Given the description of an element on the screen output the (x, y) to click on. 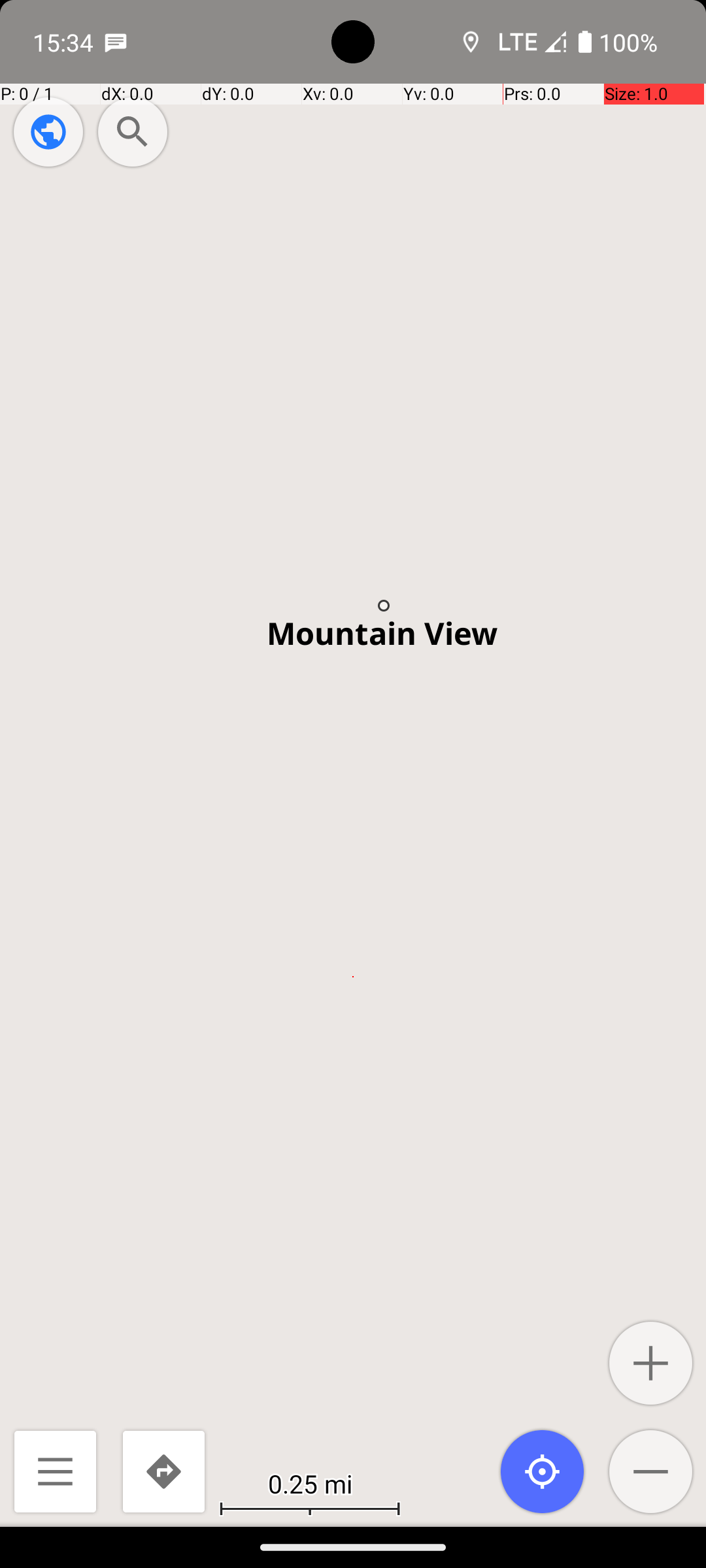
0.25 mi Element type: android.widget.TextView (309, 1483)
Where am I Element type: android.widget.ImageButton (542, 1471)
